Given the description of an element on the screen output the (x, y) to click on. 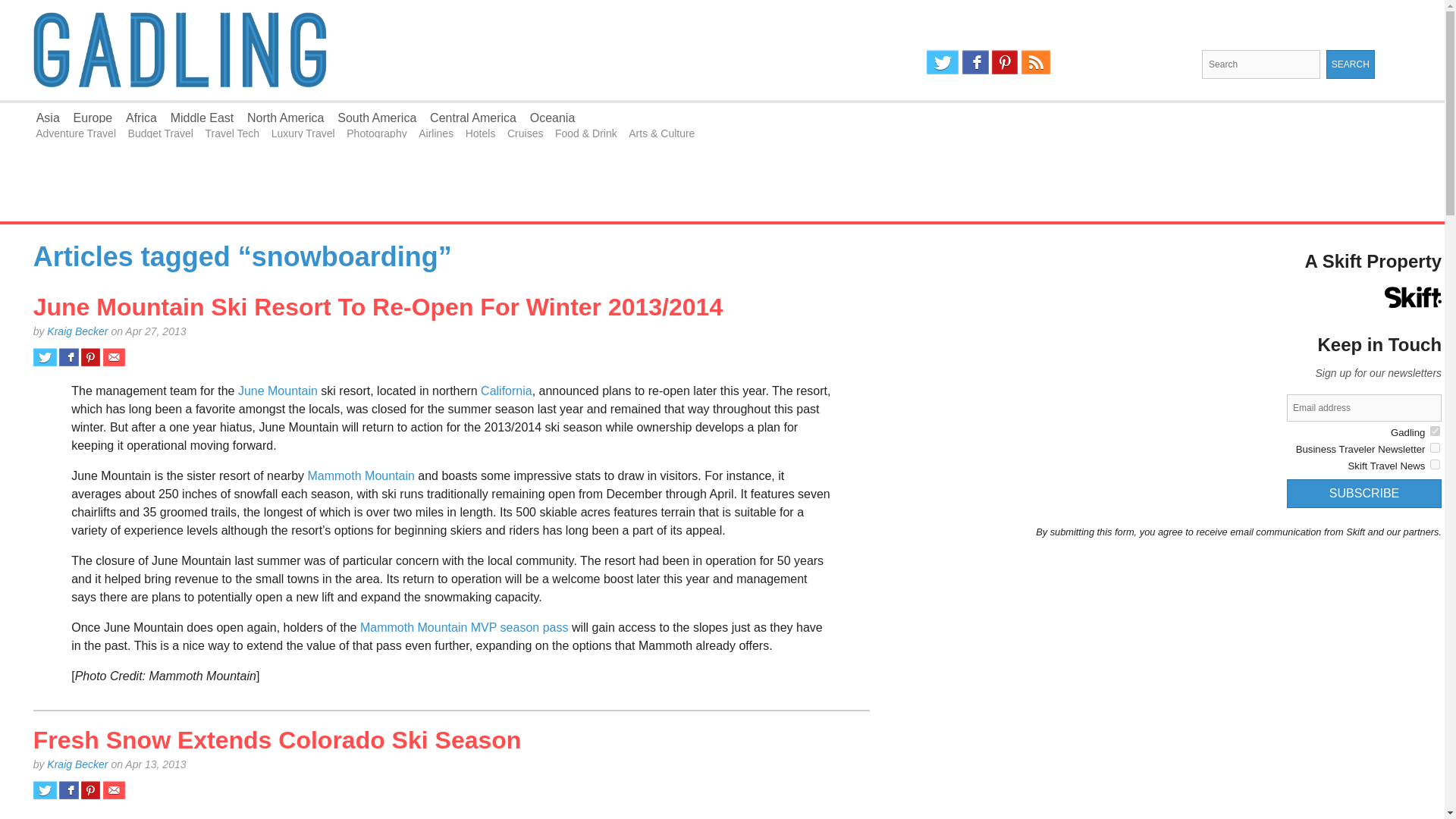
Share on Twitter (44, 790)
256 (1434, 430)
North America (285, 117)
Share on Facebook (68, 790)
Fresh Snow Extends Colorado Ski Season (277, 739)
Budget Travel (160, 133)
Share on Pinterest (90, 357)
Search (1350, 63)
Fresh Snow Extends Colorado Ski Season (277, 739)
RSS Feed (1035, 61)
California (506, 390)
Mammoth Mountain (360, 475)
Kraig Becker (76, 764)
Twitter (942, 61)
South America (376, 117)
